Given the description of an element on the screen output the (x, y) to click on. 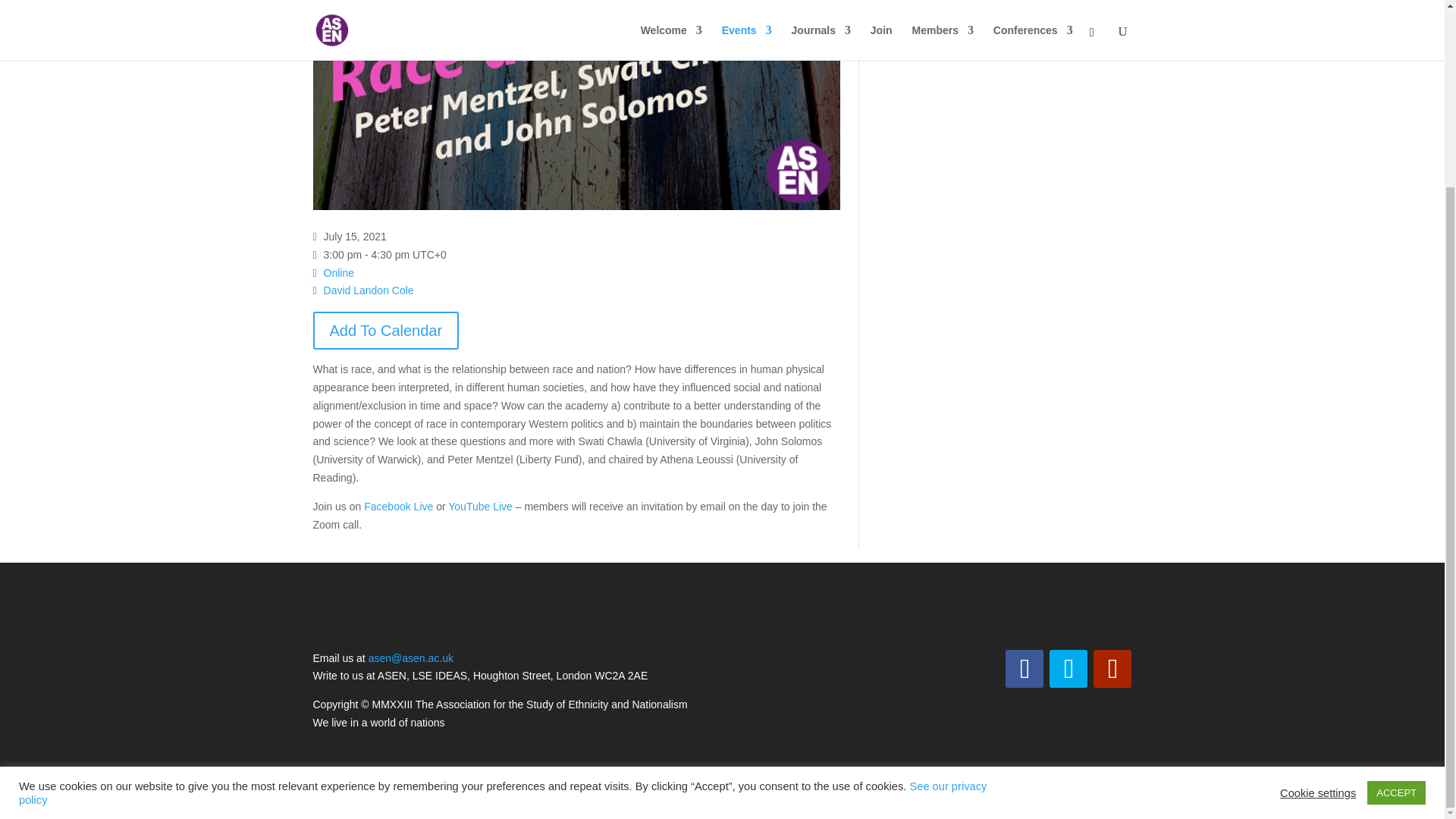
Follow on Youtube (1112, 668)
raceandnation (576, 104)
Follow on Facebook (1024, 668)
Follow on Twitter (1068, 668)
